Given the description of an element on the screen output the (x, y) to click on. 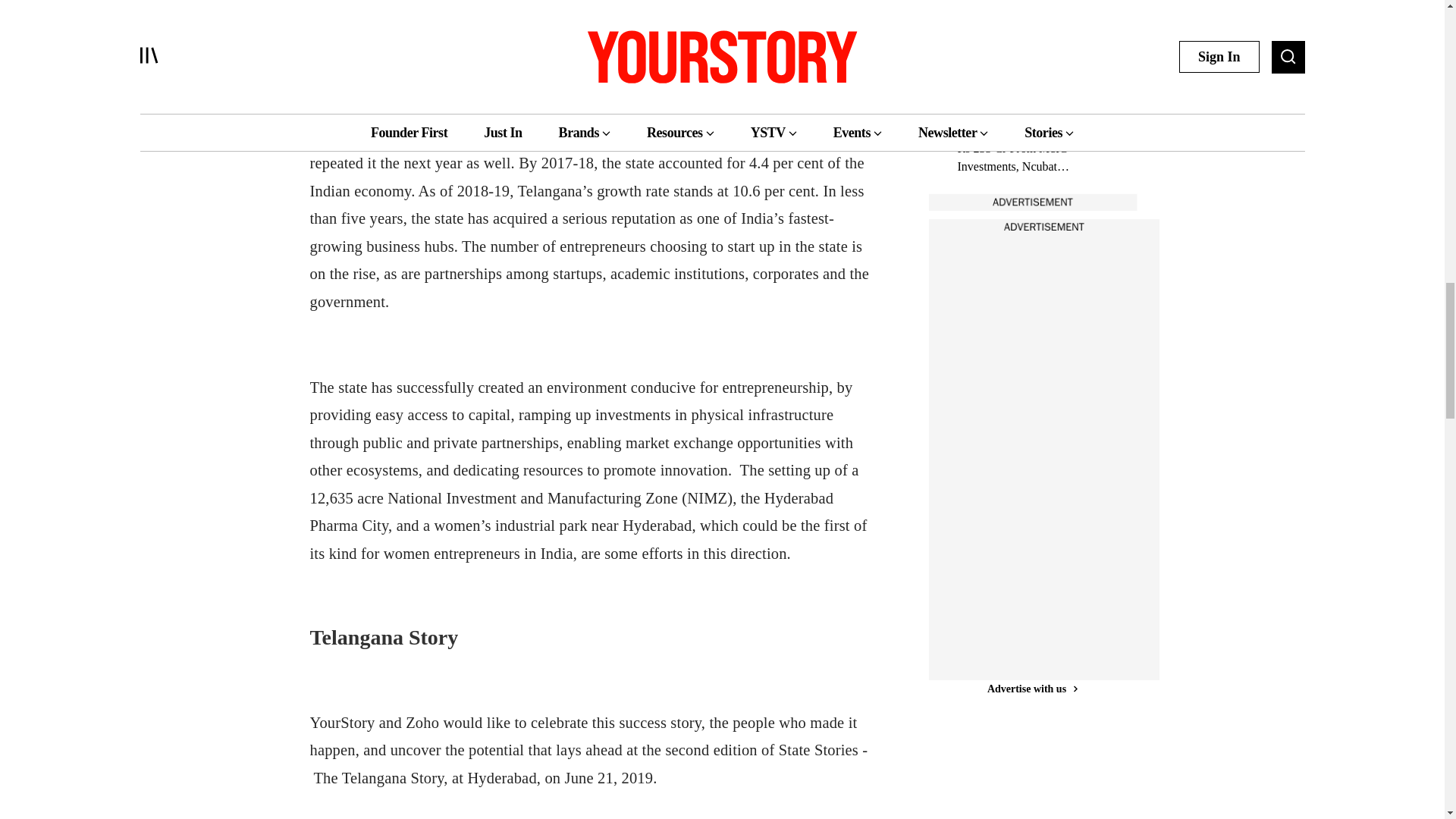
Advertise with us (1032, 201)
FUNDING (979, 109)
Advertise with us (1032, 688)
FUNDING (979, 4)
